Given the description of an element on the screen output the (x, y) to click on. 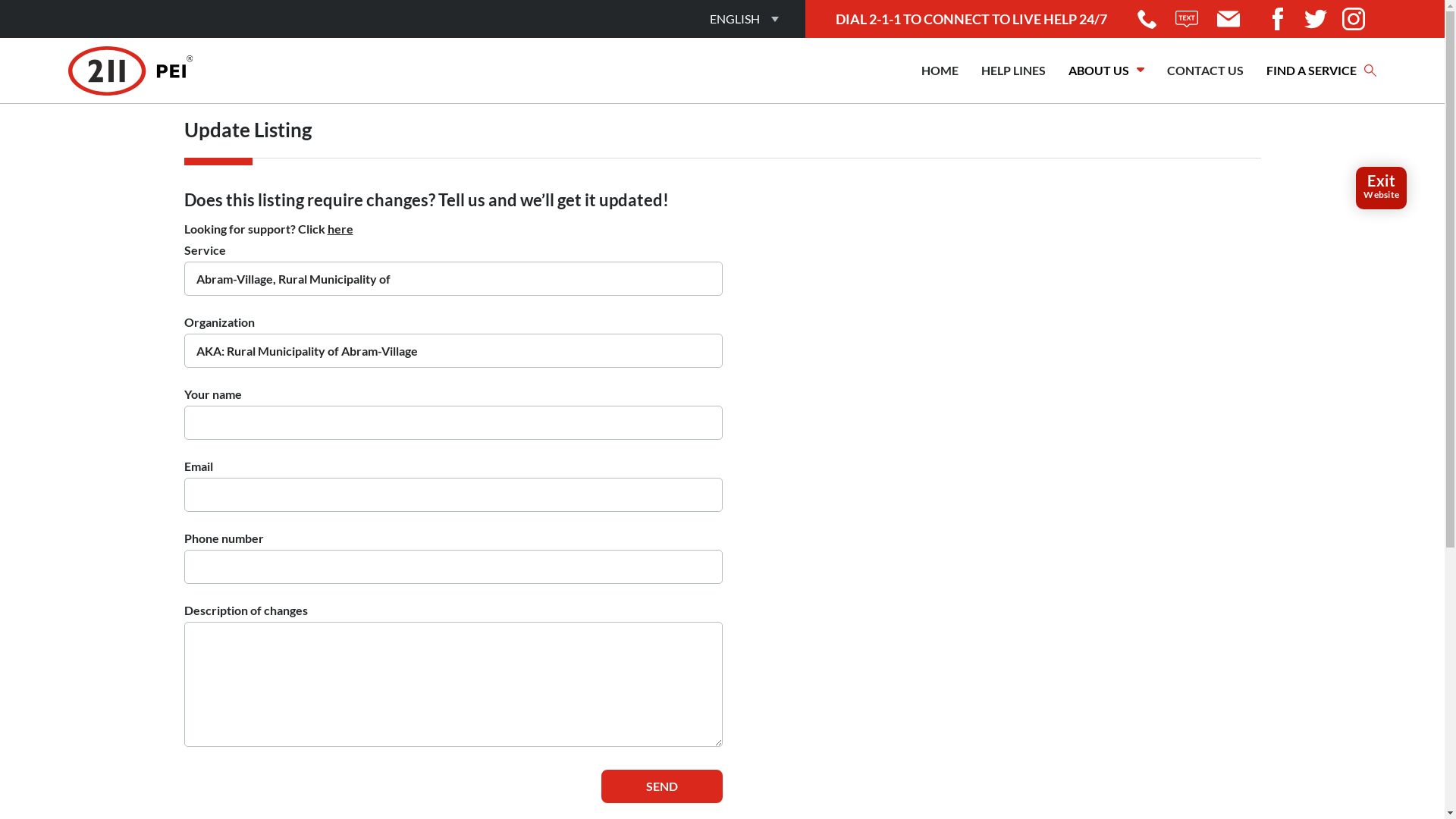
SEND Element type: text (660, 786)
ENGLISH Element type: text (734, 18)
here Element type: text (340, 228)
HOME Element type: text (939, 70)
ABOUT US Element type: text (1106, 70)
Exit
Website Element type: text (1380, 187)
FIND A SERVICE Element type: text (1321, 70)
CONTACT US Element type: text (1205, 70)
HELP LINES Element type: text (1013, 70)
